Given the description of an element on the screen output the (x, y) to click on. 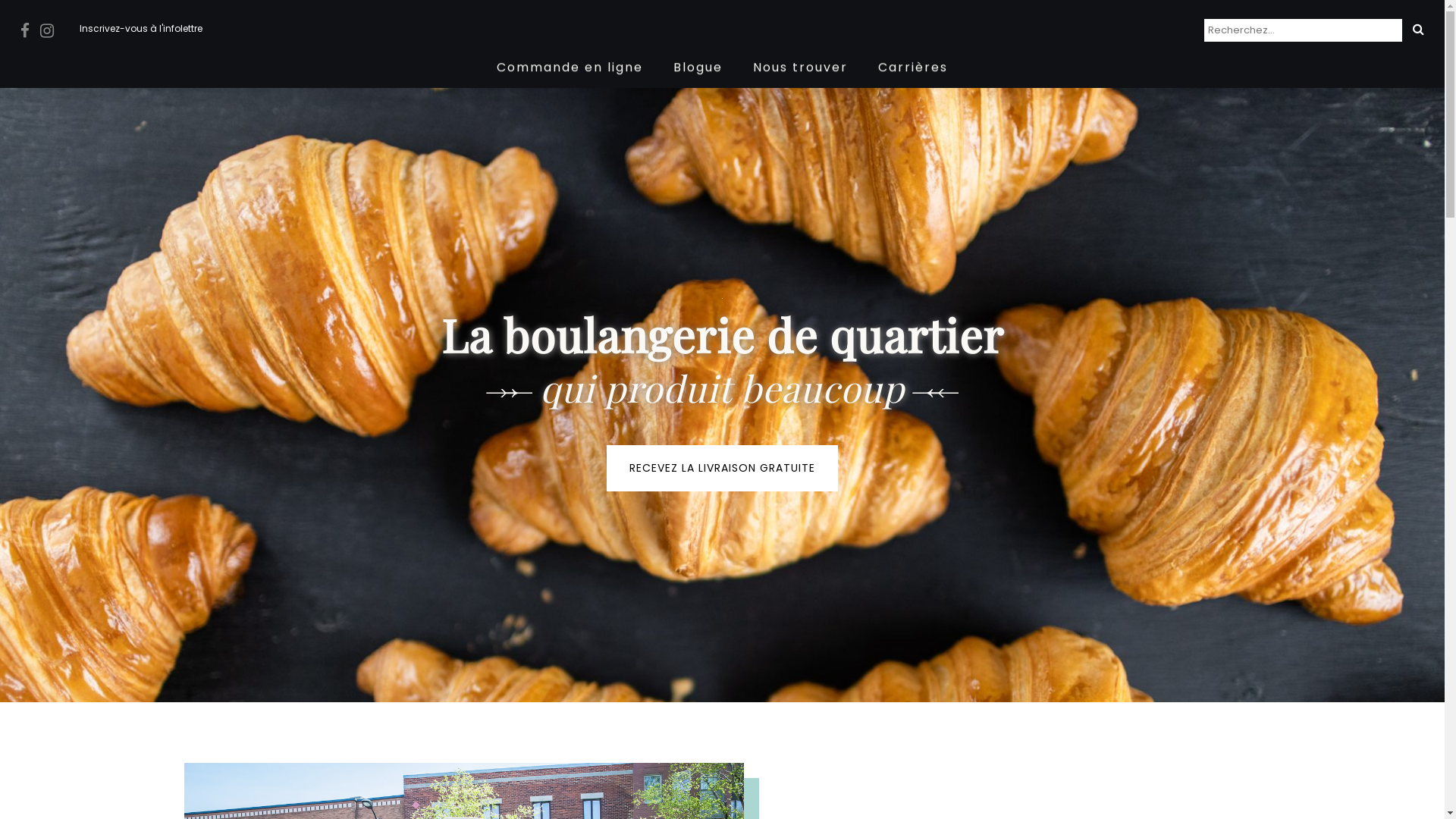
RECEVEZ LA LIVRAISON GRATUITE Element type: text (721, 468)
Nous trouver Element type: text (800, 66)
Blogue Element type: text (697, 66)
Commande en ligne Element type: text (569, 66)
